Given the description of an element on the screen output the (x, y) to click on. 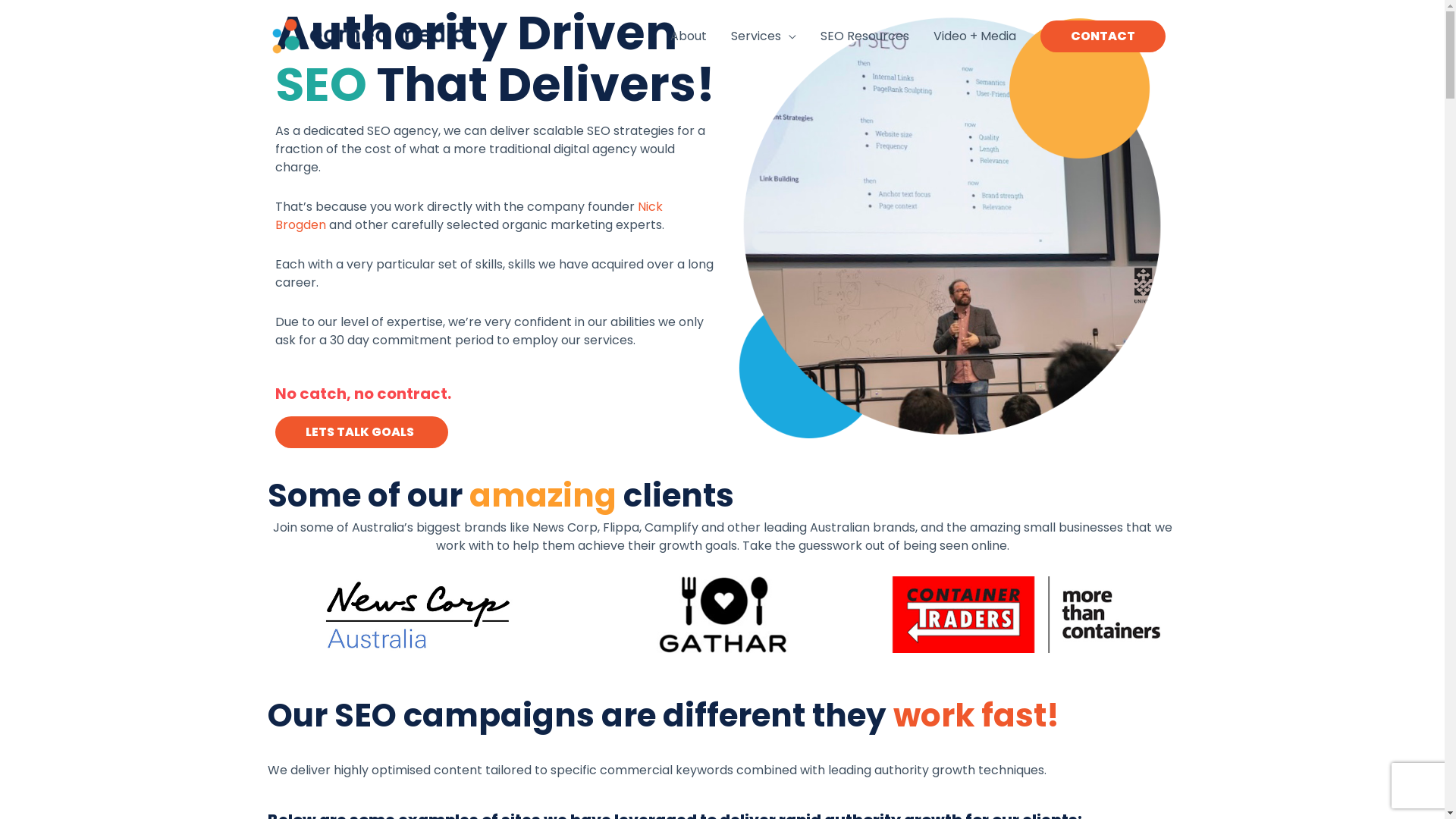
Services Element type: text (763, 36)
LETS TALK GOALS Element type: text (360, 432)
Video + Media Element type: text (973, 36)
CONTACT Element type: text (1102, 36)
Nick Brogden Element type: text (468, 215)
About Element type: text (688, 36)
SEO Resources Element type: text (864, 36)
